Given the description of an element on the screen output the (x, y) to click on. 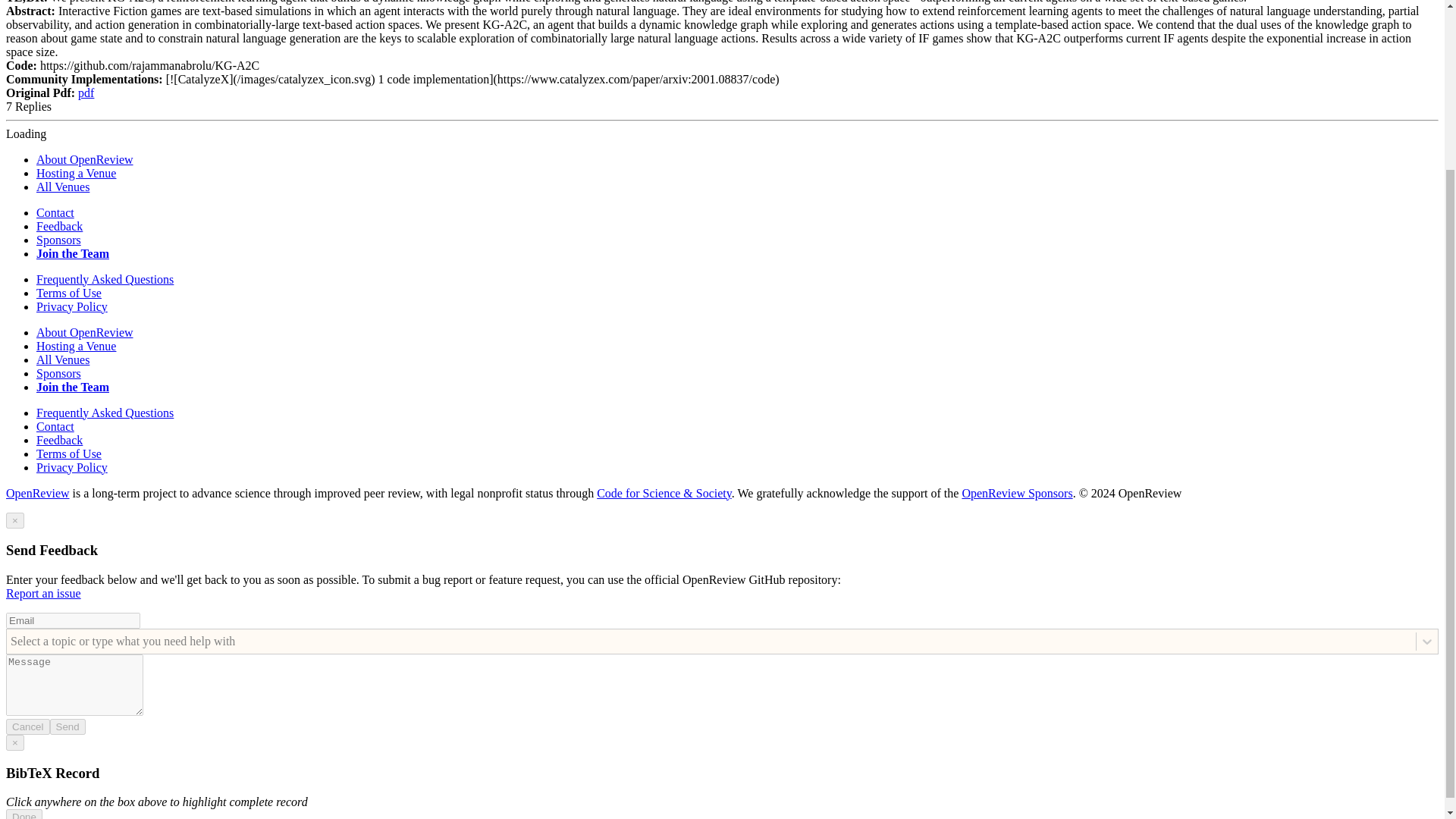
Contact (55, 212)
Download Original Pdf (86, 92)
Terms of Use (68, 292)
Feedback (59, 226)
Privacy Policy (71, 467)
Frequently Asked Questions (104, 412)
OpenReview (37, 492)
Contact (55, 426)
Hosting a Venue (76, 173)
Hosting a Venue (76, 345)
